Given the description of an element on the screen output the (x, y) to click on. 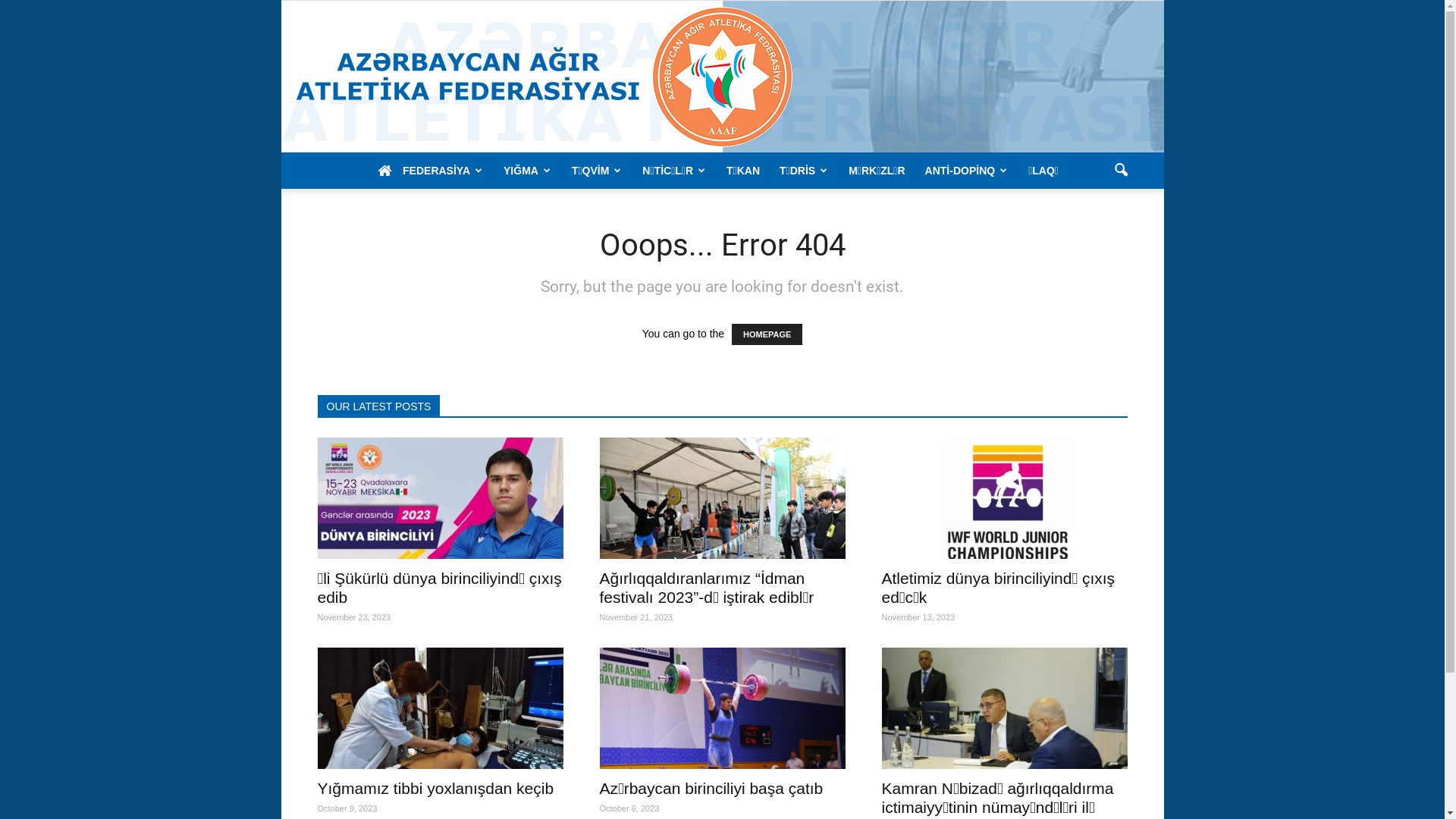
FEDERASIYA Element type: text (442, 170)
HOMEPAGE Element type: text (766, 334)
